Given the description of an element on the screen output the (x, y) to click on. 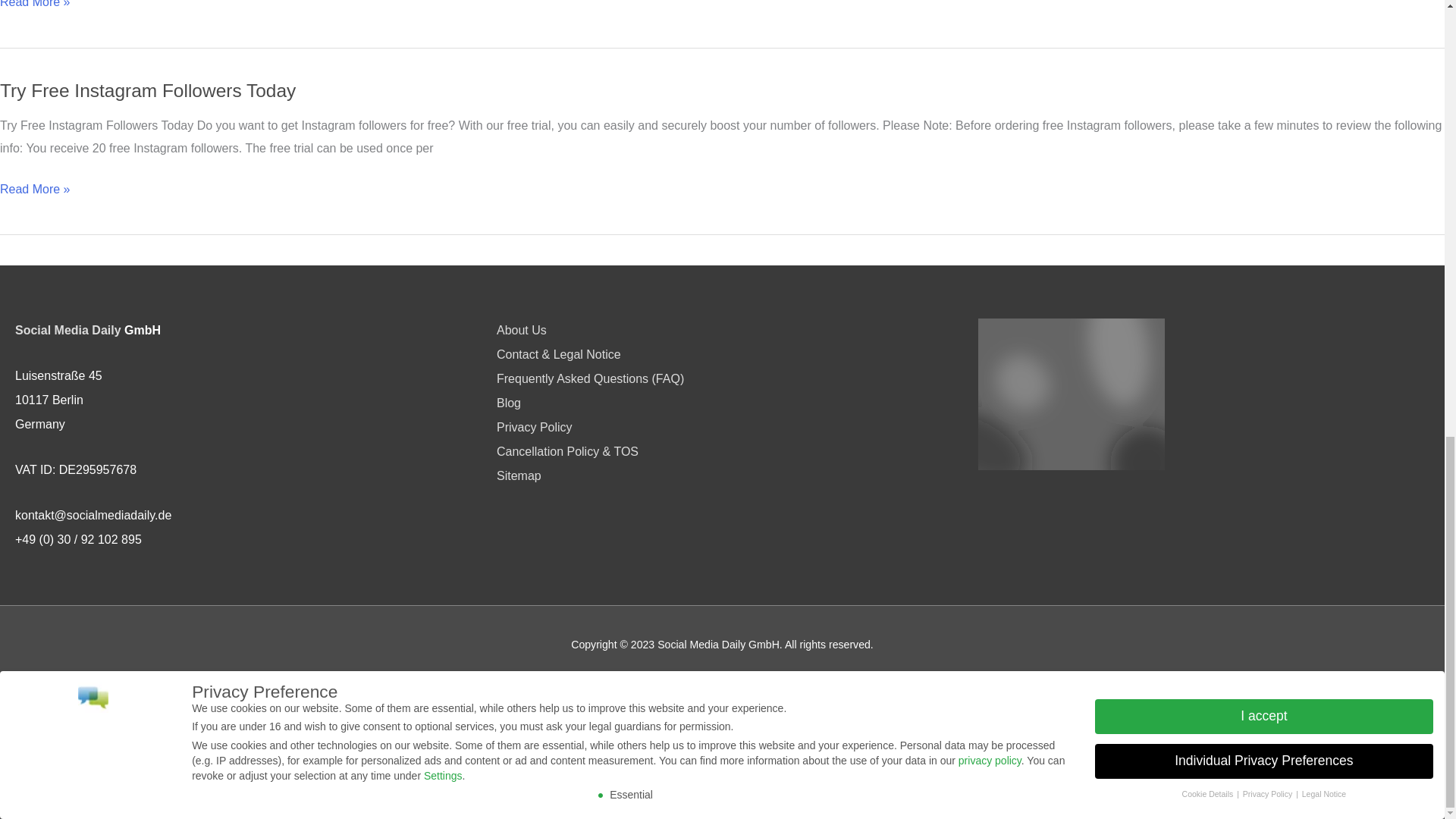
Try Free Instagram Followers Today (147, 90)
Social Media Daily (67, 329)
